Given the description of an element on the screen output the (x, y) to click on. 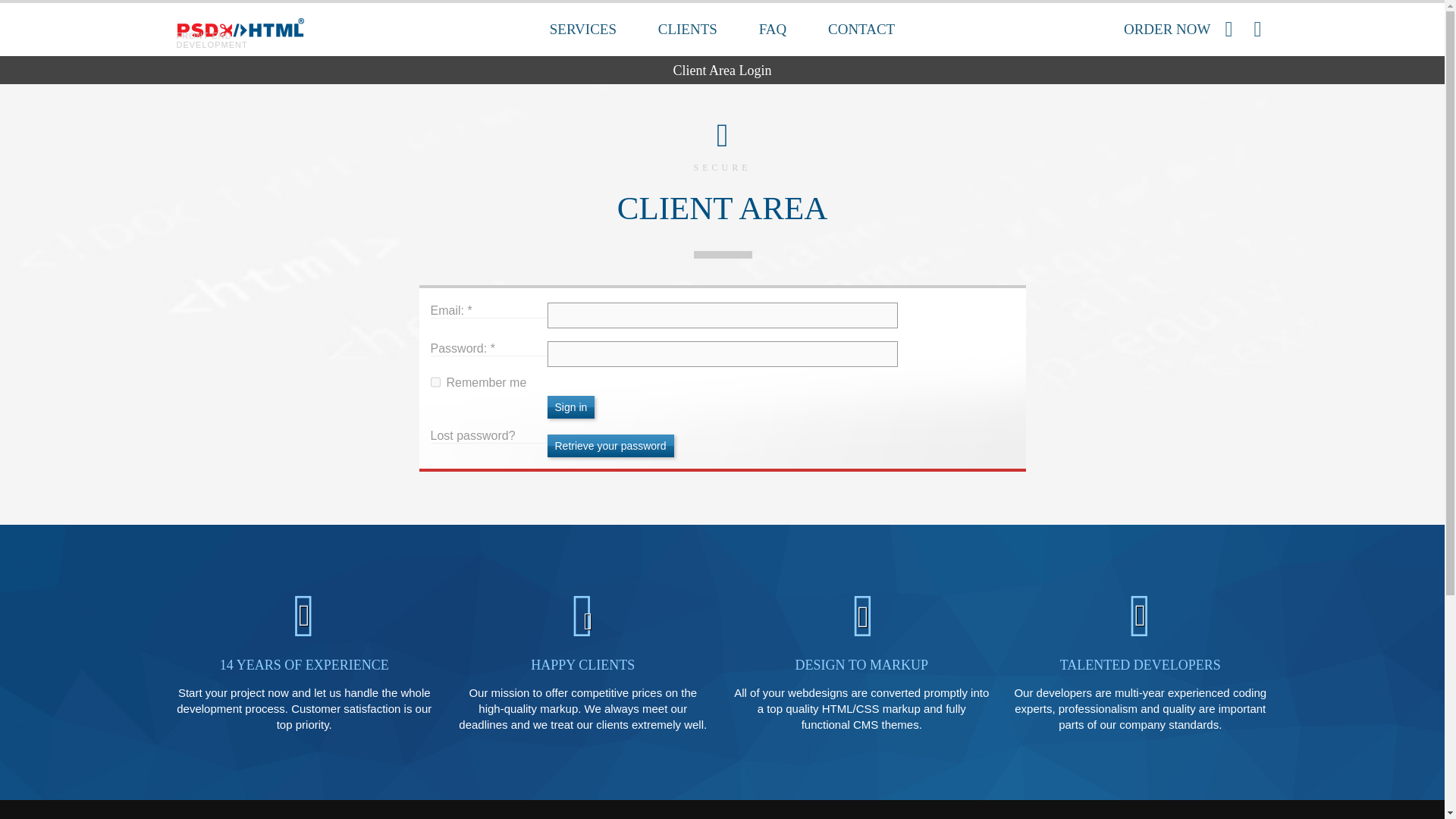
Sign in (571, 406)
ORDER NOW (1182, 30)
FAQ (772, 29)
CLIENTS (687, 29)
SERVICES (582, 29)
Sign in (571, 406)
Retrieve your password (610, 445)
Client Area Login (721, 70)
CONTACT (861, 29)
